Given the description of an element on the screen output the (x, y) to click on. 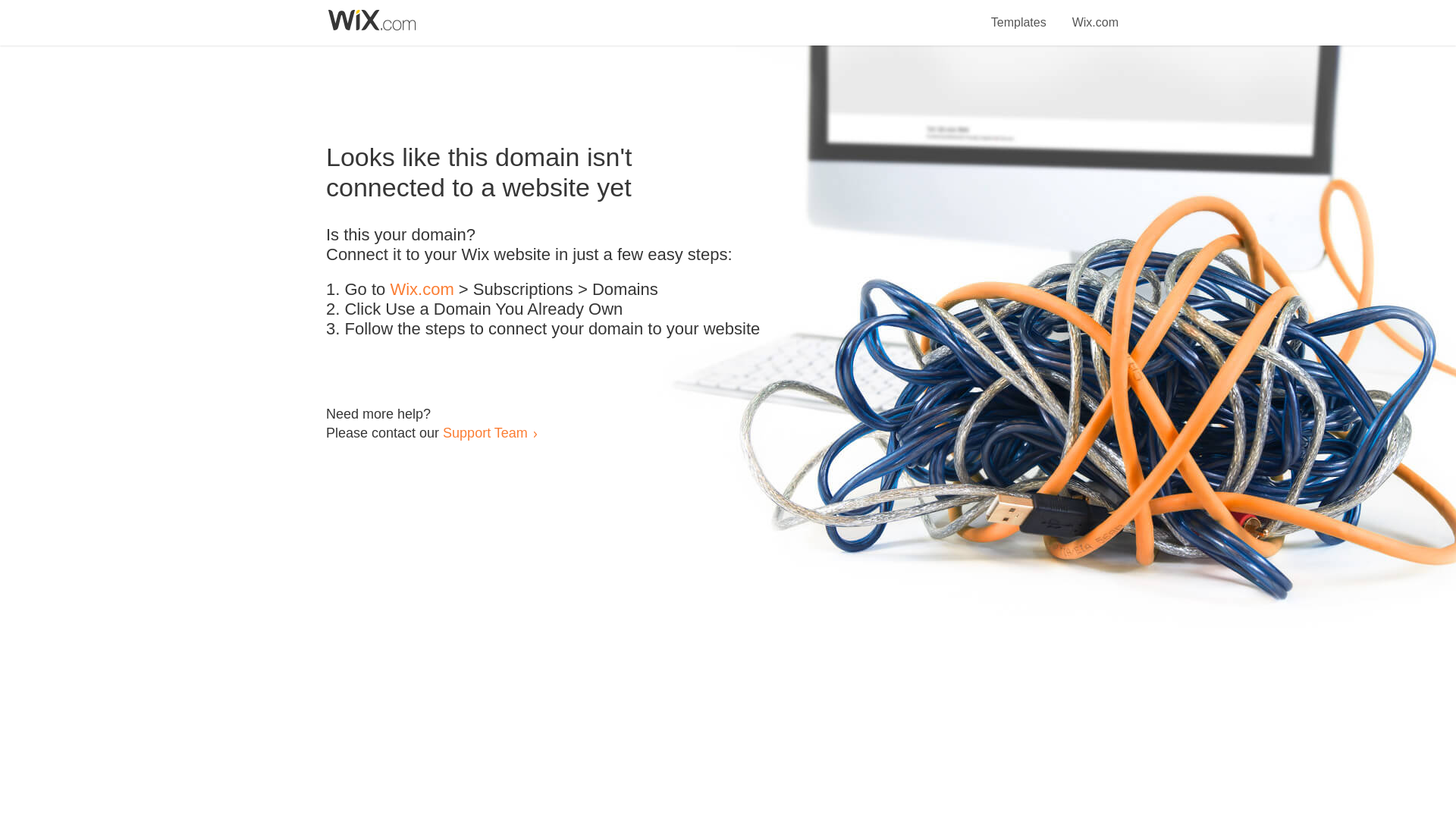
Wix.com (1095, 14)
Support Team (484, 432)
Templates (1018, 14)
Wix.com (421, 289)
